Given the description of an element on the screen output the (x, y) to click on. 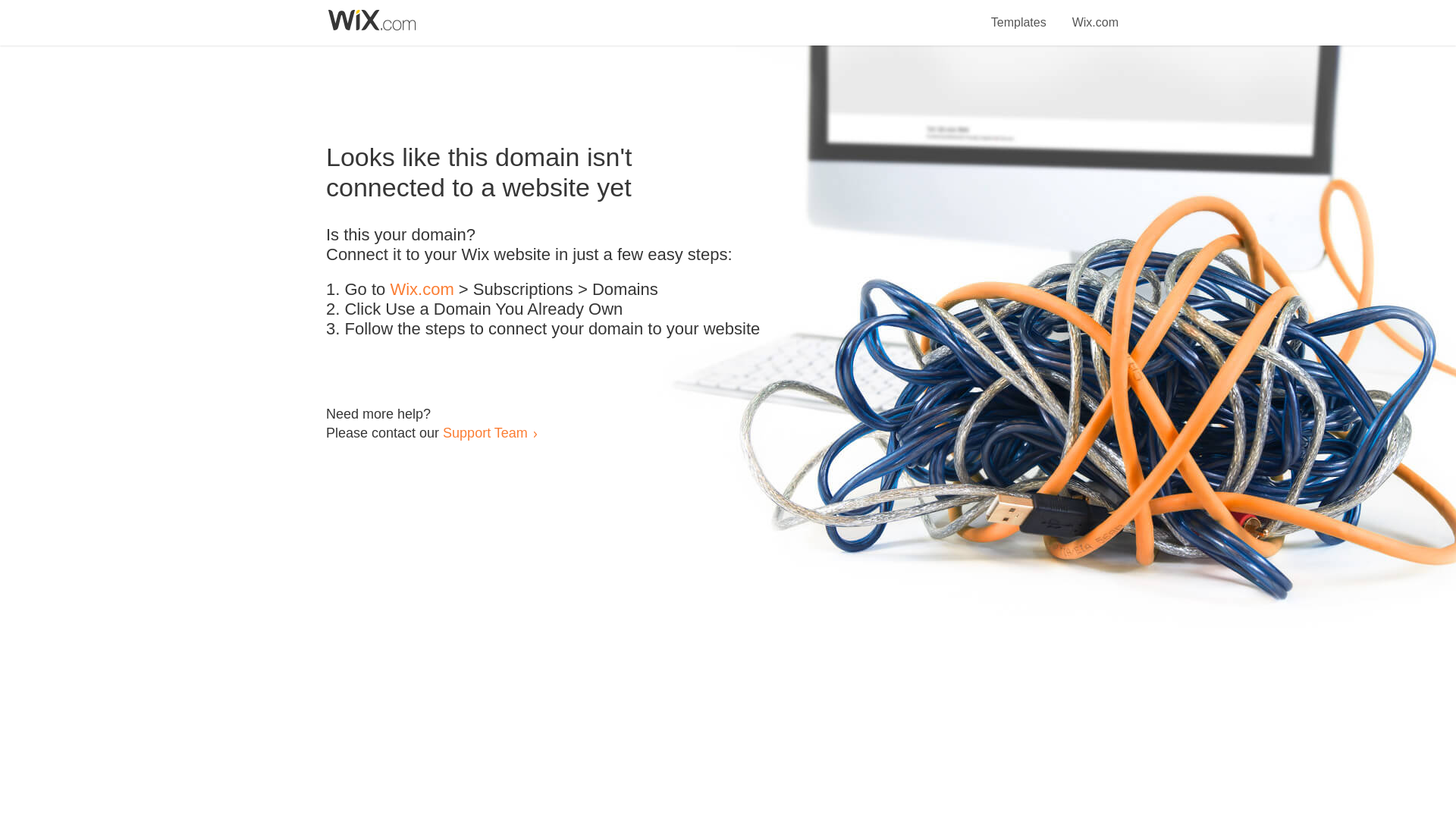
Wix.com (1095, 14)
Support Team (484, 432)
Templates (1018, 14)
Wix.com (421, 289)
